Given the description of an element on the screen output the (x, y) to click on. 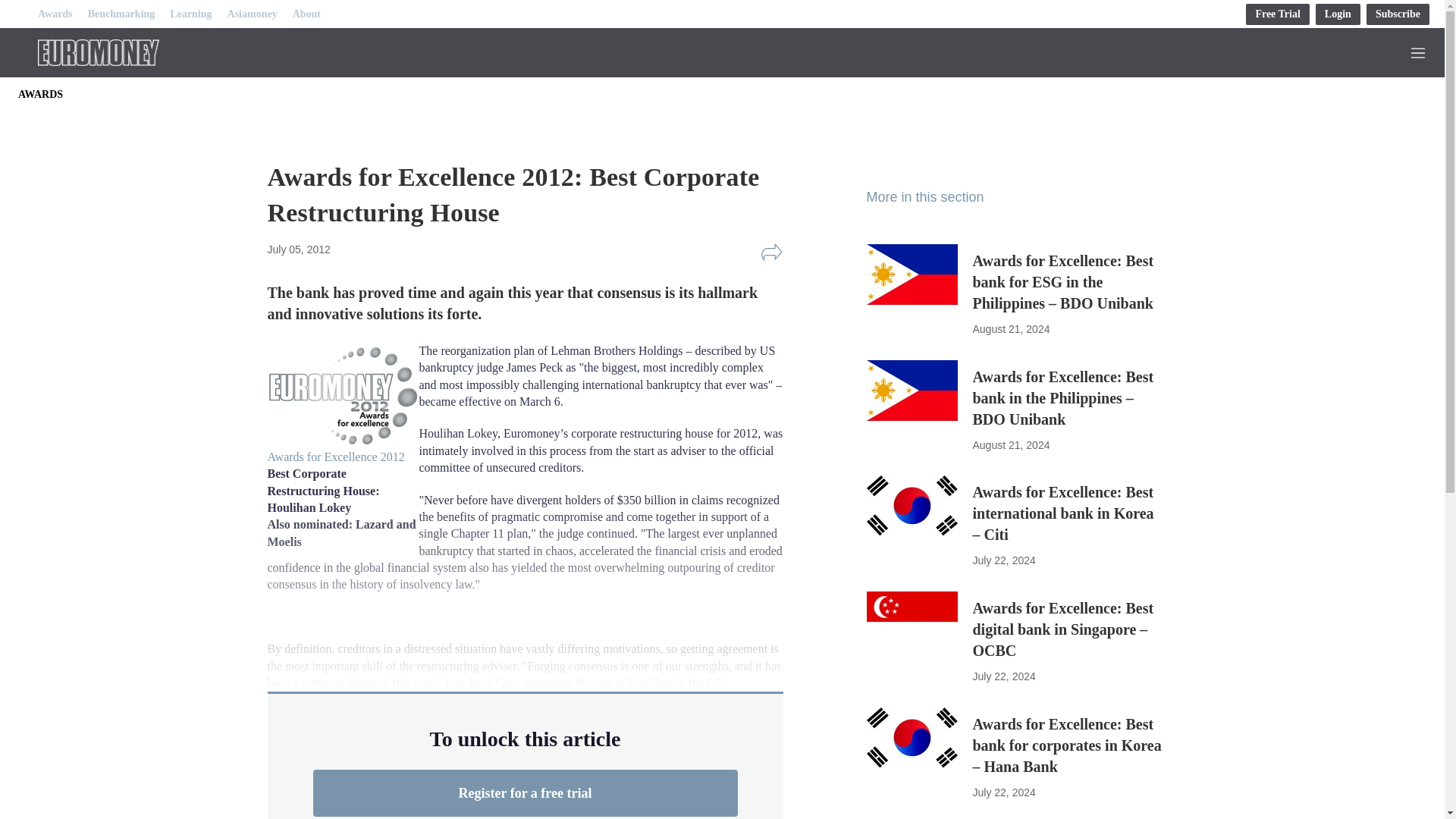
Benchmarking (121, 13)
Asiamoney (252, 13)
Login (1337, 13)
Share (771, 251)
Learning (190, 13)
About (306, 13)
Awards (54, 13)
Subscribe (1398, 13)
Free Trial (1277, 13)
